Given the description of an element on the screen output the (x, y) to click on. 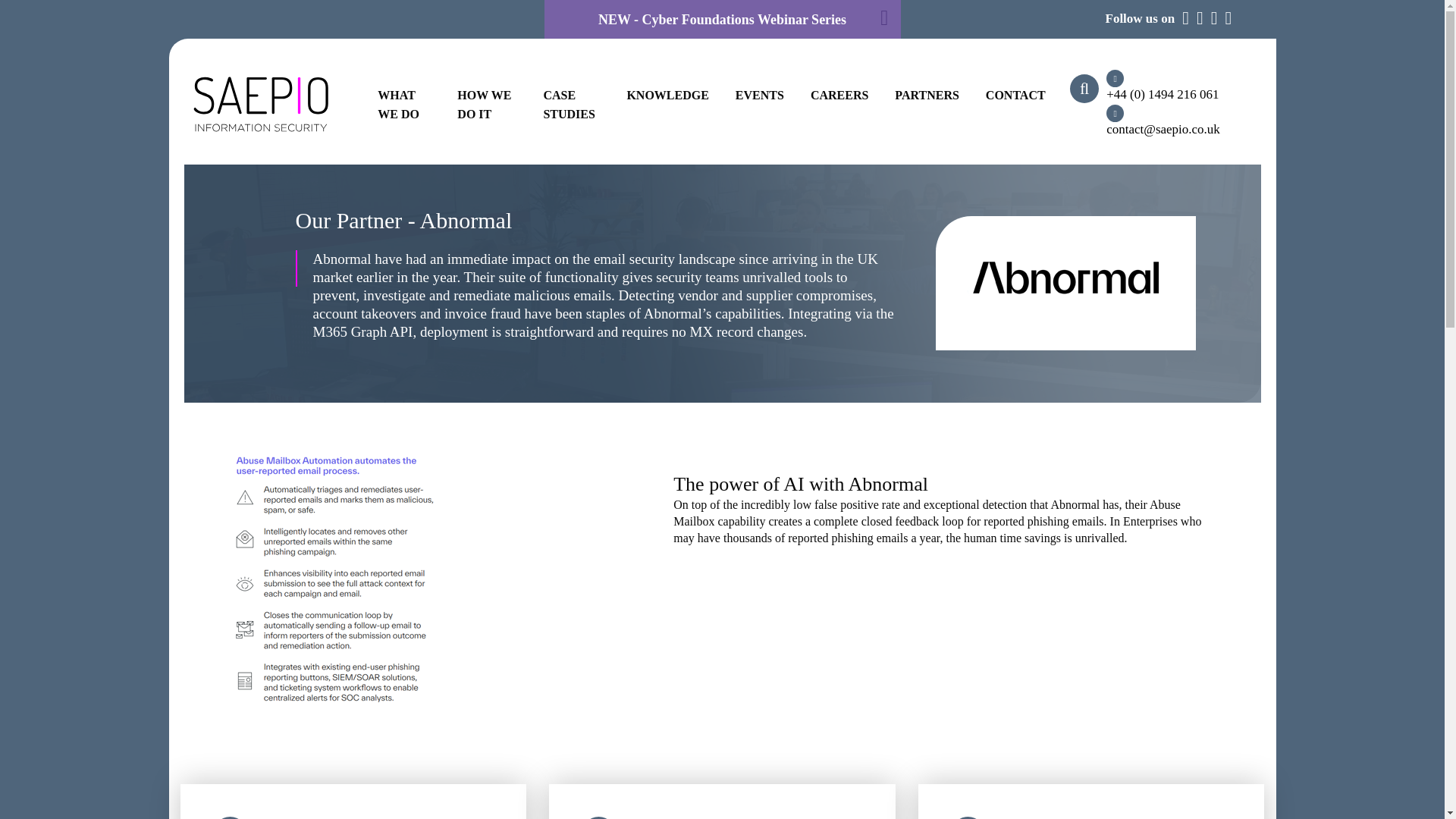
Saepio (260, 104)
EVENTS (759, 94)
NEW - Cyber Foundations Webinar Series (721, 19)
KNOWLEDGE (666, 94)
Knowledge (666, 94)
CAREERS (838, 94)
How we do it (484, 104)
Contact (1015, 94)
HOW WE DO IT (484, 104)
PARTNERS (926, 94)
Mail Us (1173, 120)
What we do (398, 104)
CASE STUDIES (568, 104)
Case studies (568, 104)
Call Us (1173, 85)
